Given the description of an element on the screen output the (x, y) to click on. 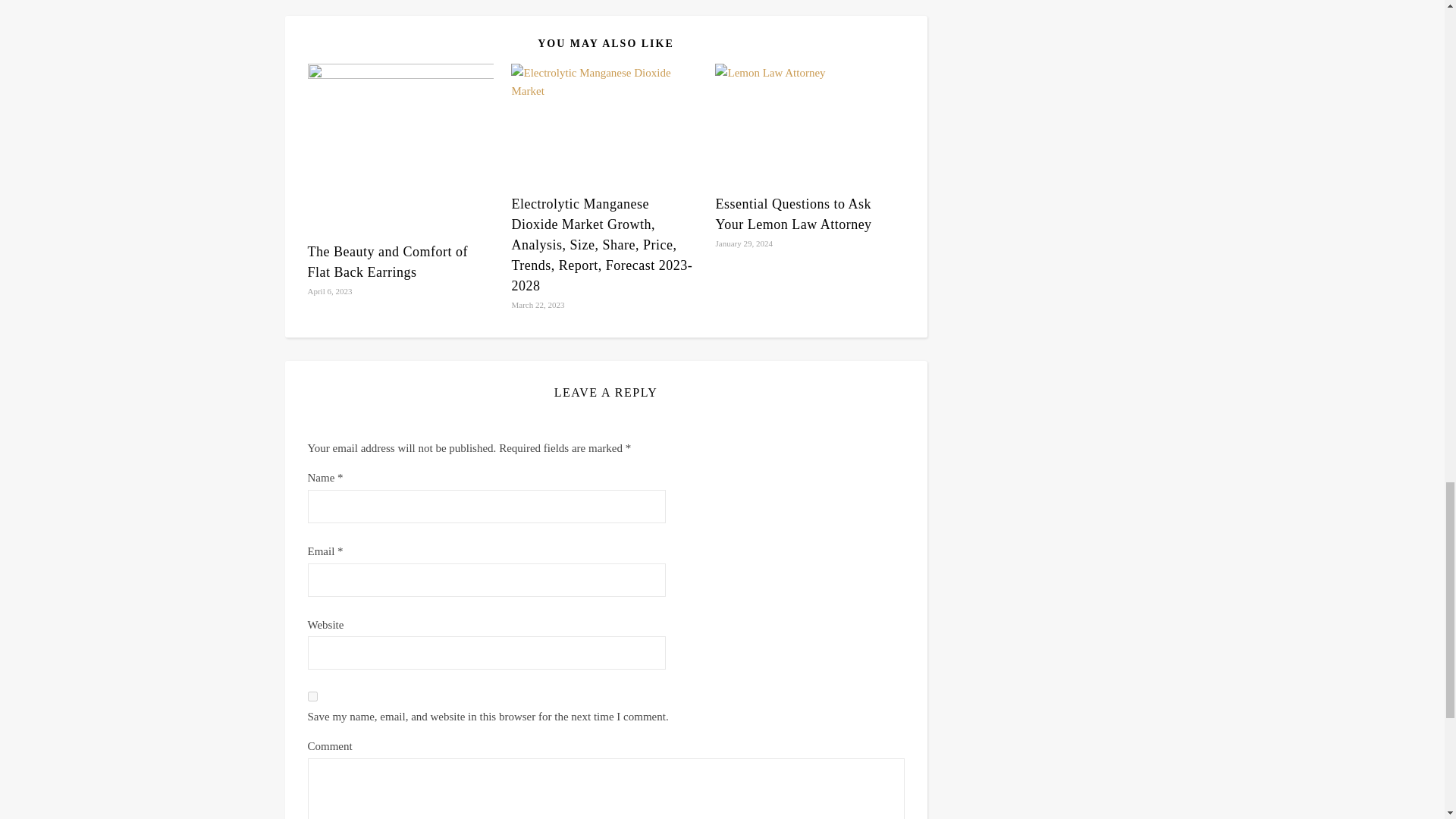
Essential Questions to Ask Your Lemon Law Attorney (792, 213)
yes (312, 696)
The Beauty and Comfort of Flat Back Earrings (387, 262)
